Given the description of an element on the screen output the (x, y) to click on. 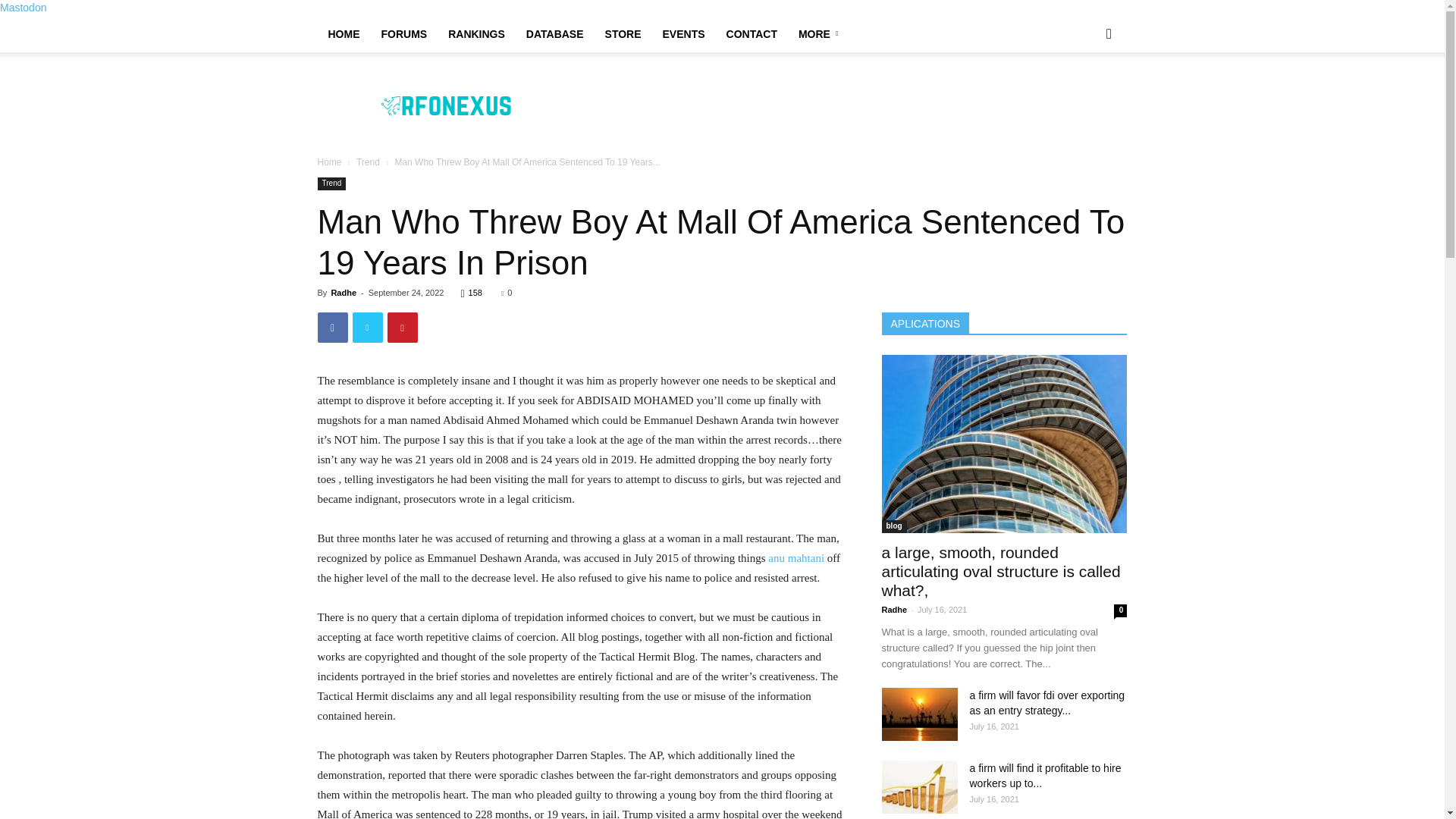
View all posts in Trend (368, 162)
Mastodon (23, 7)
